Given the description of an element on the screen output the (x, y) to click on. 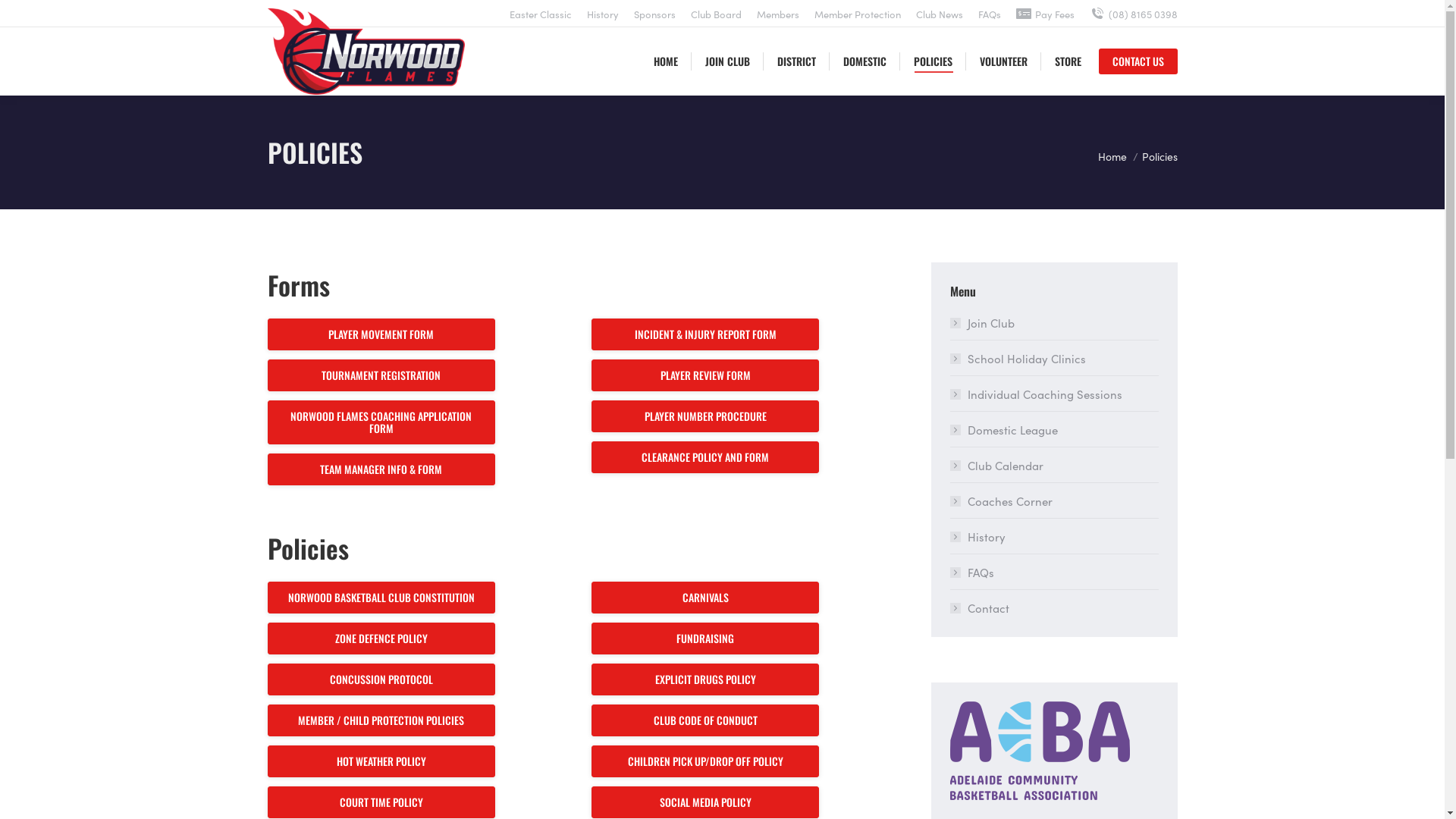
Home Element type: text (1112, 155)
Pay Fees Element type: text (1045, 13)
PLAYER MOVEMENT FORM Element type: text (380, 334)
CONCUSSION PROTOCOL Element type: text (380, 679)
Club Board Element type: text (715, 13)
MEMBER / CHILD PROTECTION POLICIES Element type: text (380, 720)
CONTACT US Element type: text (1137, 61)
NORWOOD BASKETBALL CLUB CONSTITUTION Element type: text (380, 597)
INCIDENT & INJURY REPORT FORM Element type: text (705, 334)
NORWOOD FLAMES COACHING APPLICATION FORM Element type: text (380, 422)
Individual Coaching Sessions Element type: text (1035, 393)
STORE Element type: text (1067, 60)
FUNDRAISING Element type: text (705, 638)
HOT WEATHER POLICY Element type: text (380, 761)
DOMESTIC Element type: text (864, 60)
CLUB CODE OF CONDUCT Element type: text (705, 720)
CLEARANCE POLICY AND FORM Element type: text (705, 457)
Club News Element type: text (939, 13)
HOME Element type: text (665, 60)
School Holiday Clinics Element type: text (1017, 358)
Contact Element type: text (978, 607)
ZONE DEFENCE POLICY Element type: text (380, 638)
FAQs Element type: text (989, 13)
TOURNAMENT REGISTRATION Element type: text (380, 375)
DISTRICT Element type: text (795, 60)
Sponsors Element type: text (654, 13)
Join Club Element type: text (981, 322)
POLICIES Element type: text (932, 60)
SOCIAL MEDIA POLICY Element type: text (705, 802)
Member Protection Element type: text (857, 13)
FAQs Element type: text (971, 571)
COURT TIME POLICY Element type: text (380, 802)
CHILDREN PICK UP/DROP OFF POLICY Element type: text (705, 761)
Club Calendar Element type: text (995, 465)
Easter Classic Element type: text (540, 13)
Members Element type: text (777, 13)
Domestic League Element type: text (1003, 429)
CARNIVALS Element type: text (705, 597)
Coaches Corner Element type: text (1000, 500)
VOLUNTEER Element type: text (1003, 60)
EXPLICIT DRUGS POLICY Element type: text (705, 679)
PLAYER REVIEW FORM Element type: text (705, 375)
TEAM MANAGER INFO & FORM Element type: text (380, 469)
JOIN CLUB Element type: text (727, 60)
History Element type: text (976, 536)
PLAYER NUMBER PROCEDURE Element type: text (705, 416)
History Element type: text (602, 13)
